Given the description of an element on the screen output the (x, y) to click on. 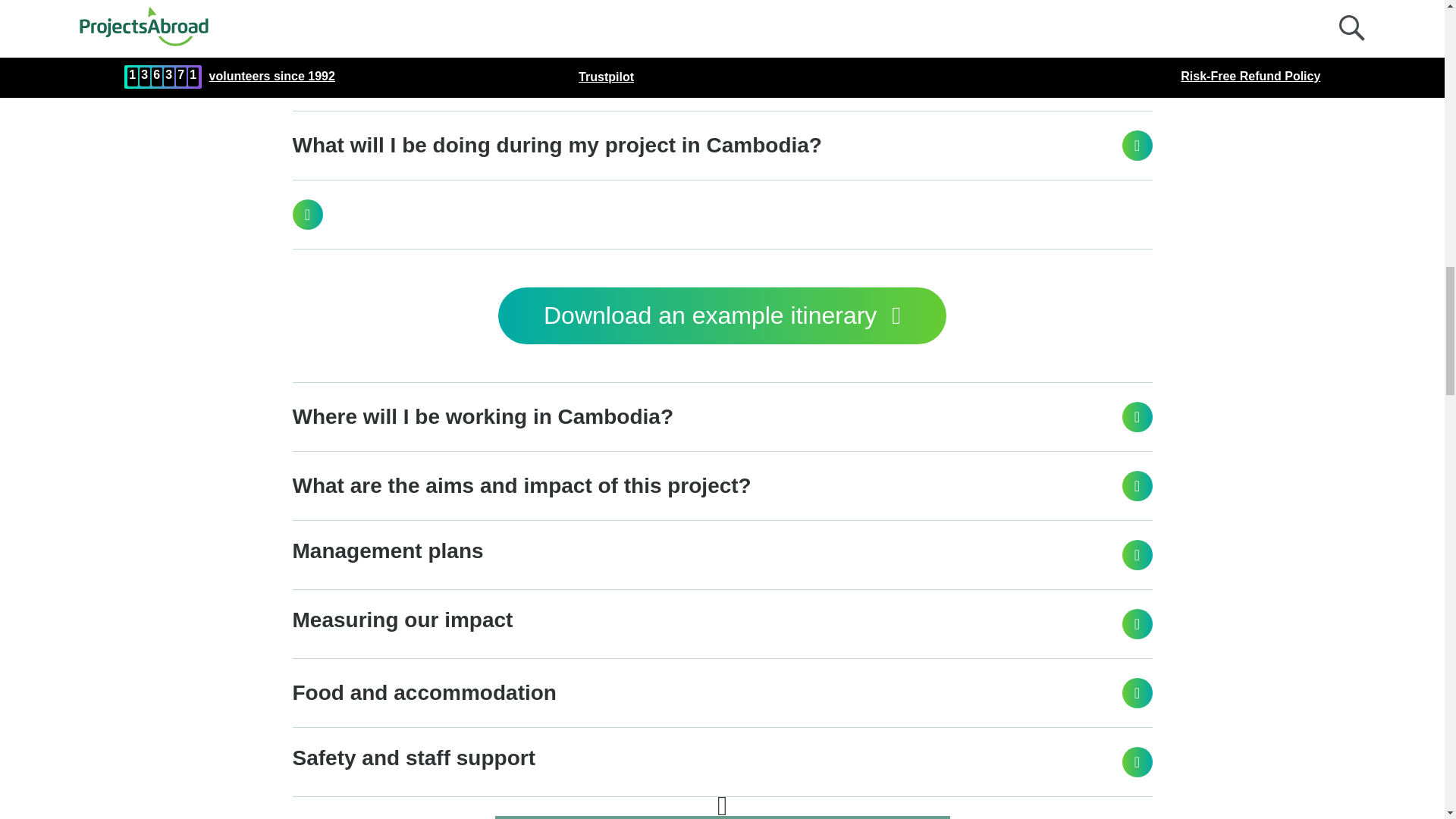
Download an example itinerary (721, 315)
